Given the description of an element on the screen output the (x, y) to click on. 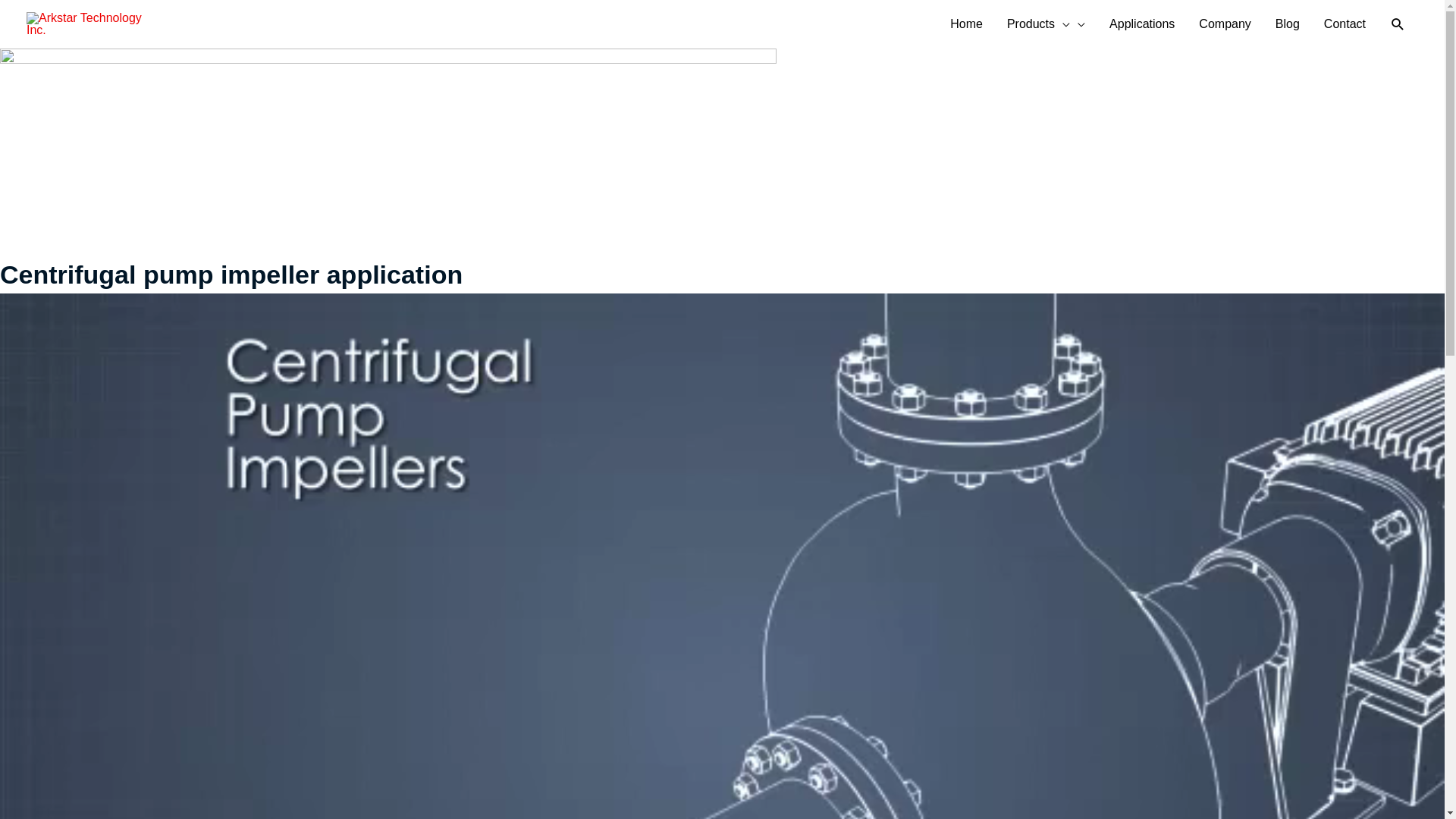
Search Element type: text (1397, 24)
Company Element type: text (1224, 24)
Products Element type: text (1045, 24)
Blog Element type: text (1287, 24)
Home Element type: text (966, 24)
Contact Element type: text (1344, 24)
Applications Element type: text (1141, 24)
